Given the description of an element on the screen output the (x, y) to click on. 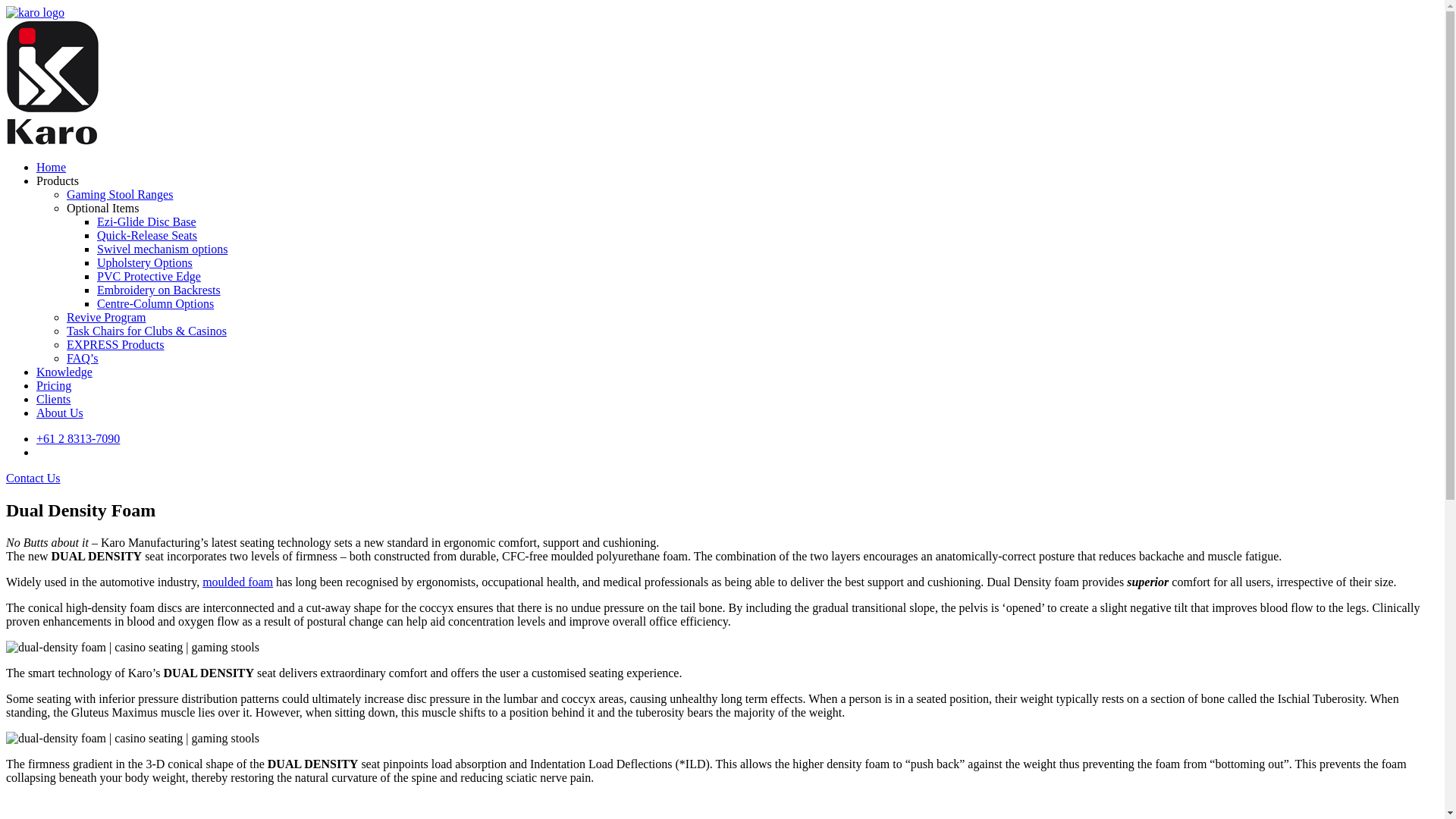
Upholstery Options Element type: text (144, 262)
Task Chairs for Clubs & Casinos Element type: text (146, 330)
Swivel mechanism options Element type: text (162, 248)
Ezi-Glide Disc Base Element type: text (146, 221)
About Us Element type: text (59, 412)
EXPRESS Products Element type: text (114, 344)
moulded foam Element type: text (237, 581)
Contact Us Element type: text (33, 477)
Knowledge Element type: text (64, 371)
Home Element type: text (50, 166)
Quick-Release Seats Element type: text (147, 235)
Embroidery on Backrests Element type: text (158, 289)
Clients Element type: text (53, 398)
+61 2 8313-7090 Element type: text (77, 438)
Revive Program Element type: text (105, 316)
Gaming Stool Ranges Element type: text (119, 194)
PVC Protective Edge Element type: text (148, 275)
Centre-Column Options Element type: text (155, 303)
Pricing Element type: text (53, 385)
